Given the description of an element on the screen output the (x, y) to click on. 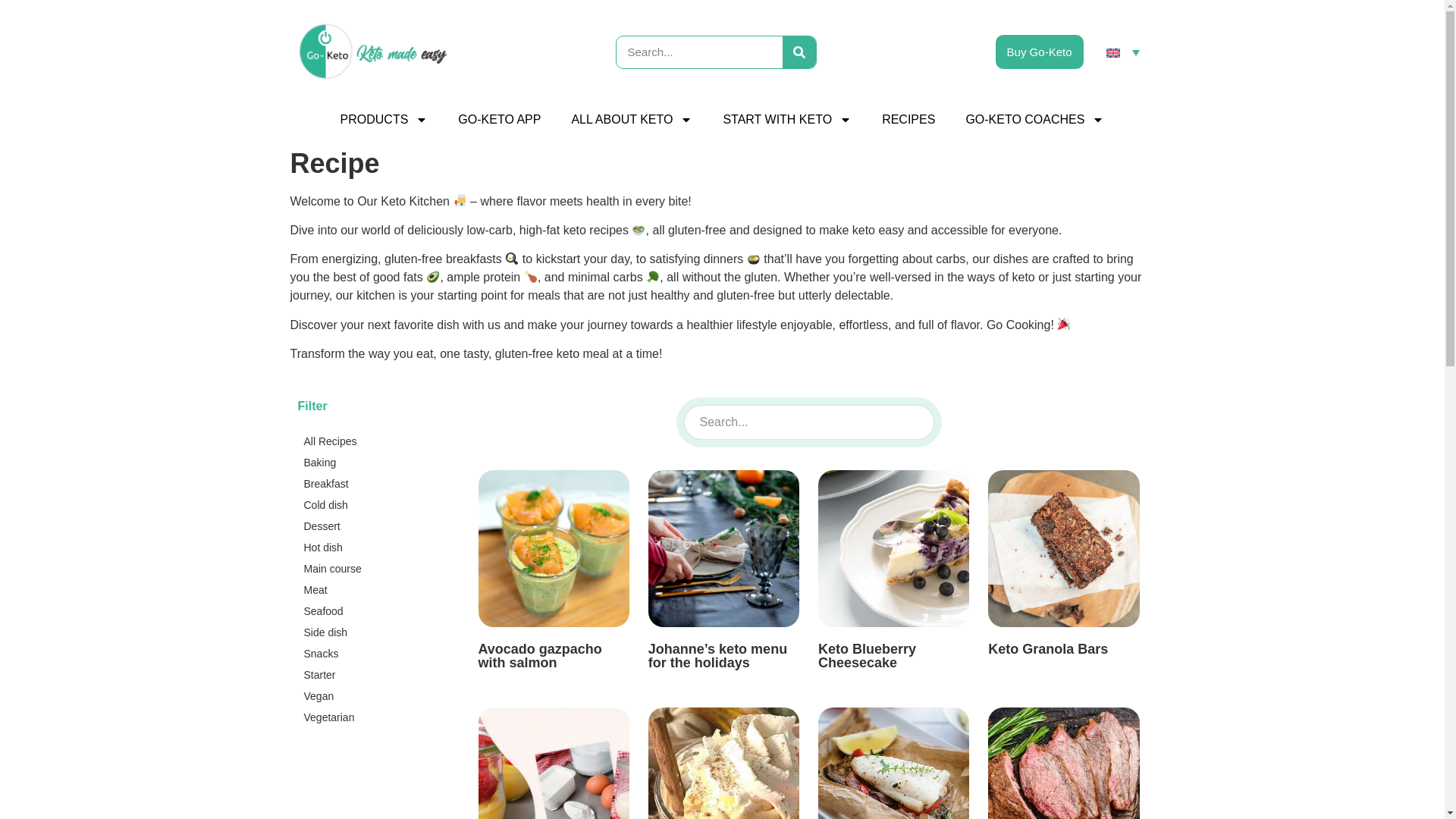
Buy Go-Keto (1039, 51)
START WITH KETO (786, 119)
GO-KETO COACHES (1034, 119)
RECIPES (908, 119)
ALL ABOUT KETO (631, 119)
PRODUCTS (384, 119)
GO-KETO APP (499, 119)
